Given the description of an element on the screen output the (x, y) to click on. 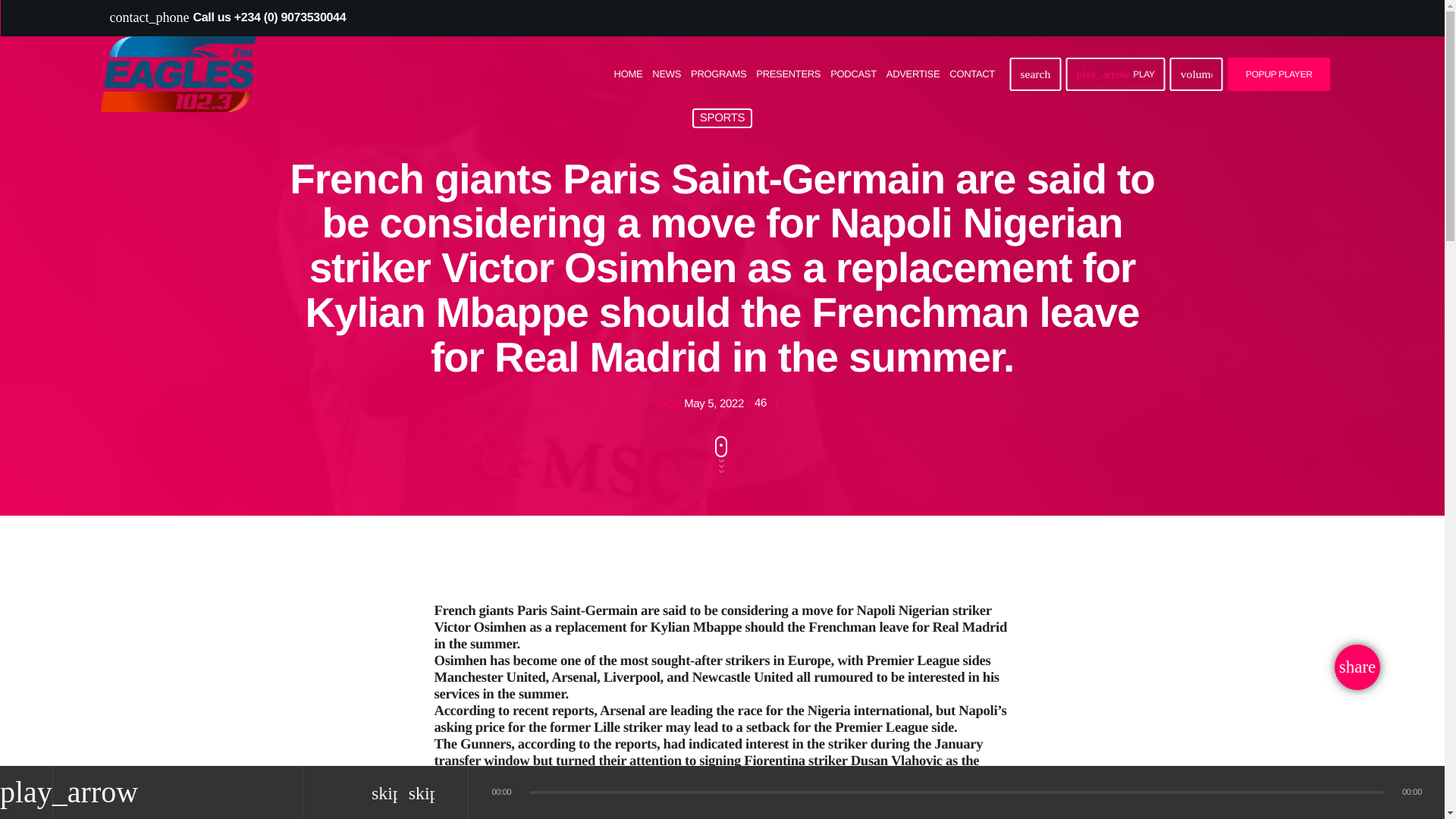
NEWS (666, 73)
PROGRAMS (718, 73)
HOME (627, 73)
SPORTS (722, 117)
email (1357, 666)
ADVERTISE (912, 73)
CONTACT (972, 73)
POPUP PLAYER (1278, 73)
search (1035, 73)
PRESENTERS (788, 73)
